Given the description of an element on the screen output the (x, y) to click on. 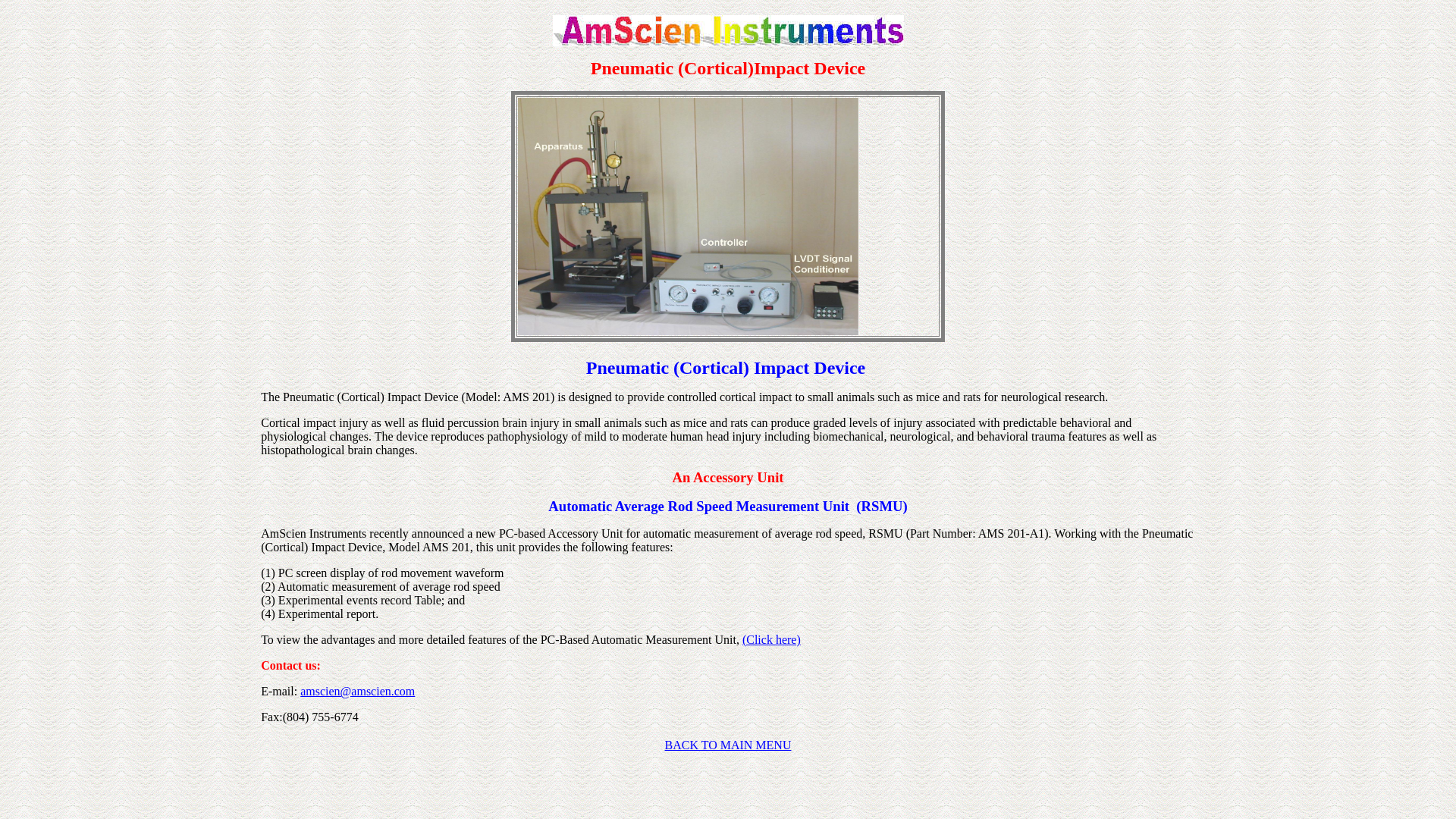
BACK TO MAIN MENU (726, 744)
